Given the description of an element on the screen output the (x, y) to click on. 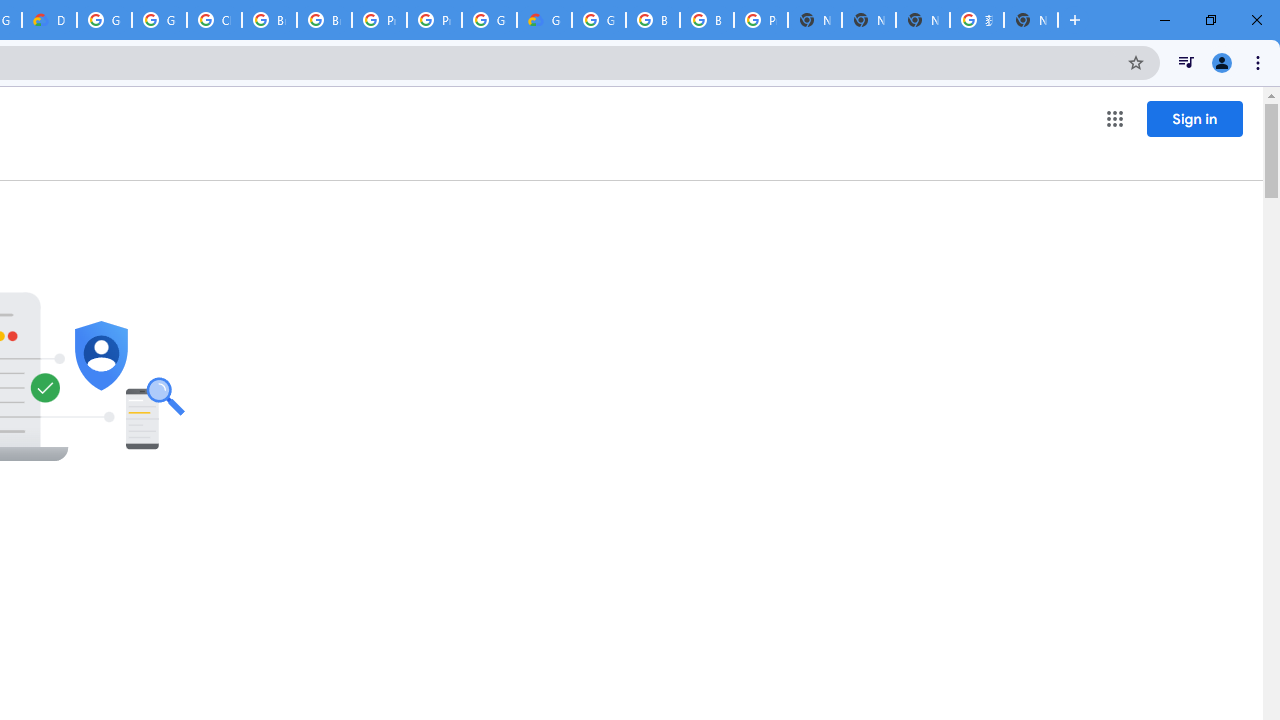
Google Cloud Platform (598, 20)
Google Cloud Platform (103, 20)
Google Cloud Estimate Summary (544, 20)
New Tab (1030, 20)
Browse Chrome as a guest - Computer - Google Chrome Help (324, 20)
Browse Chrome as a guest - Computer - Google Chrome Help (706, 20)
